Given the description of an element on the screen output the (x, y) to click on. 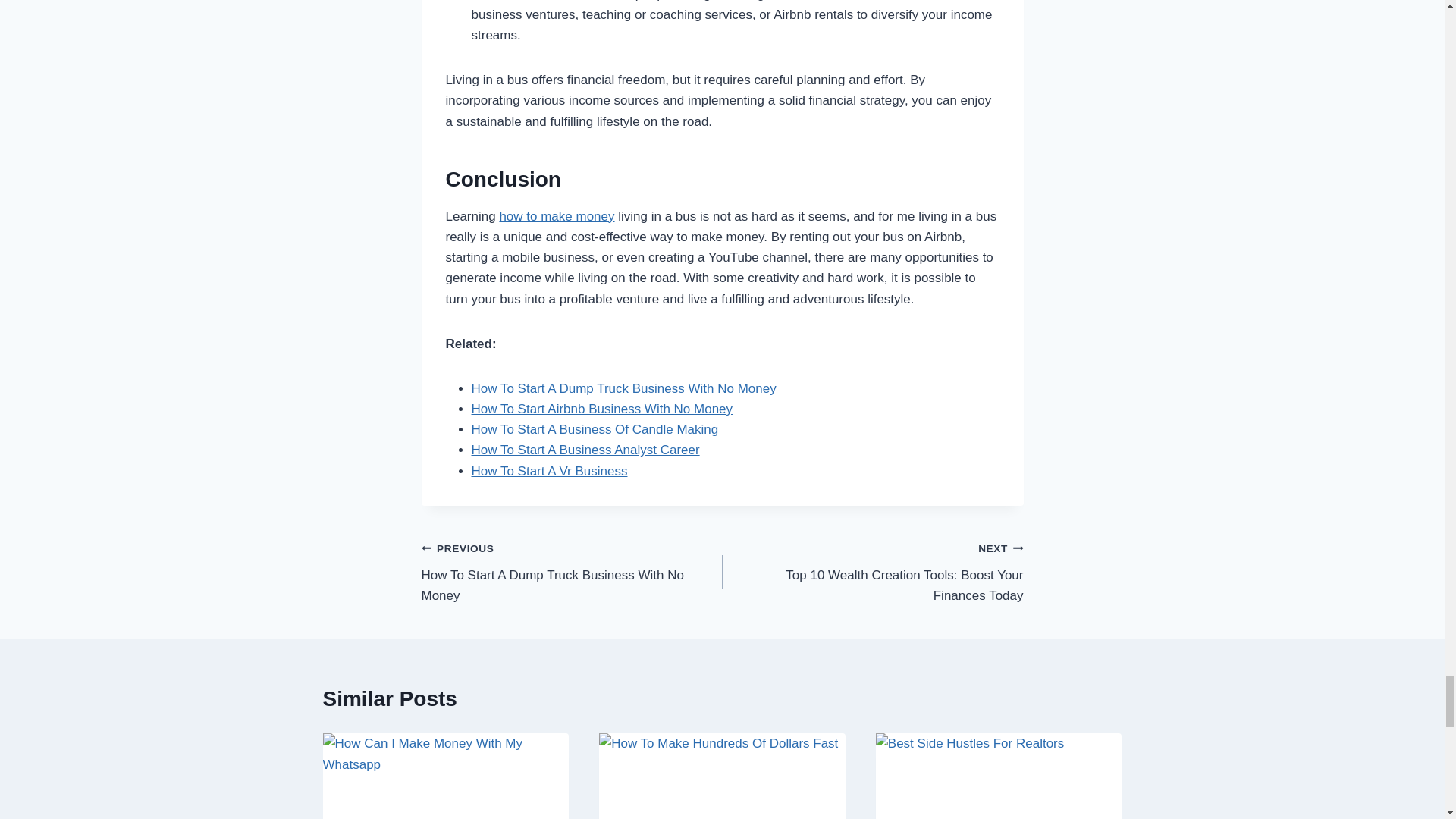
How To Start A Dump Truck Business With No Money (623, 388)
How To Start A Business Analyst Career (585, 450)
How To Start Airbnb Business With No Money (602, 409)
How To Start A Business Of Candle Making (595, 429)
how to make money (556, 216)
